Given the description of an element on the screen output the (x, y) to click on. 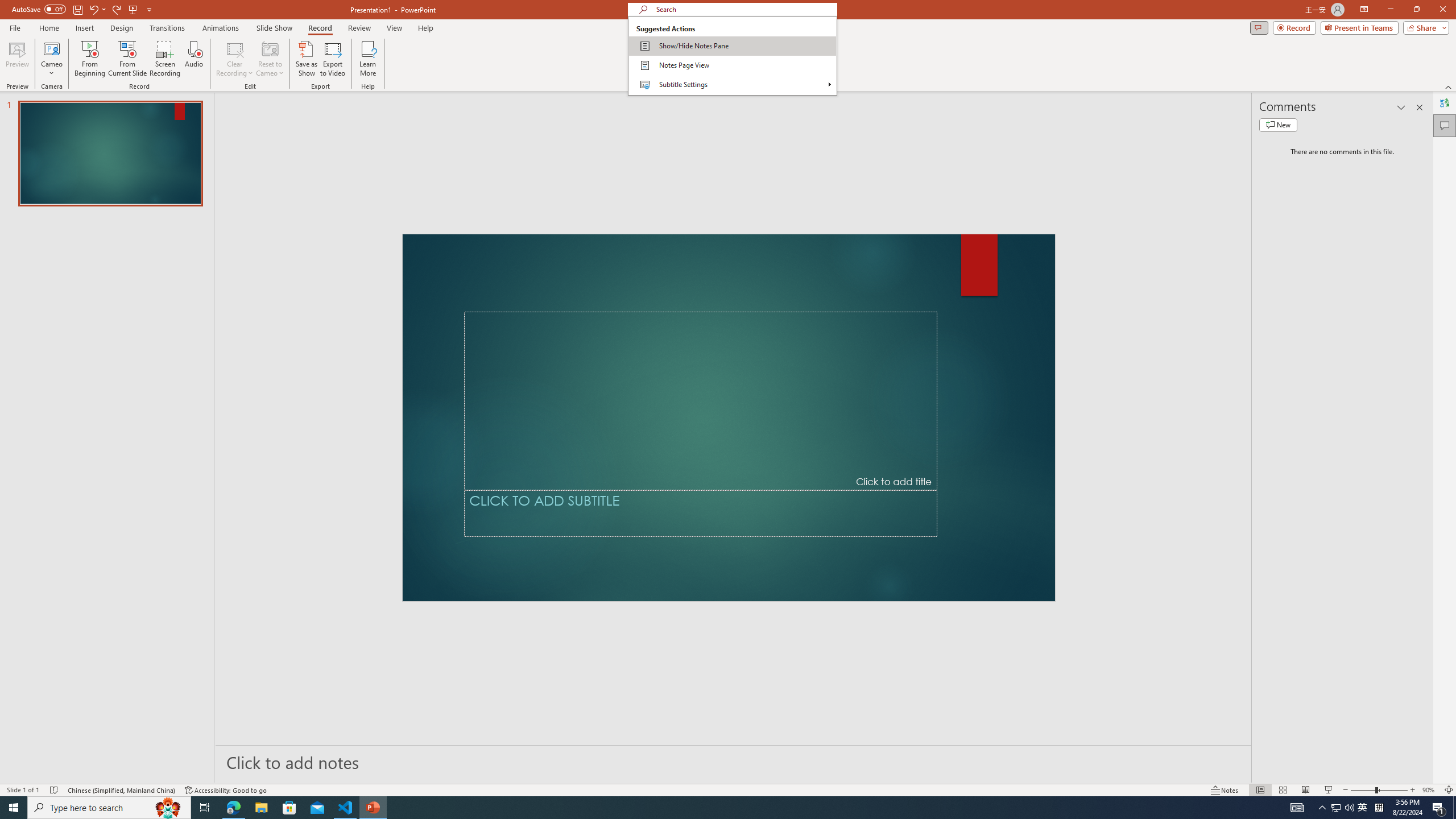
Notes Page View (731, 65)
New comment (1278, 124)
